Given the description of an element on the screen output the (x, y) to click on. 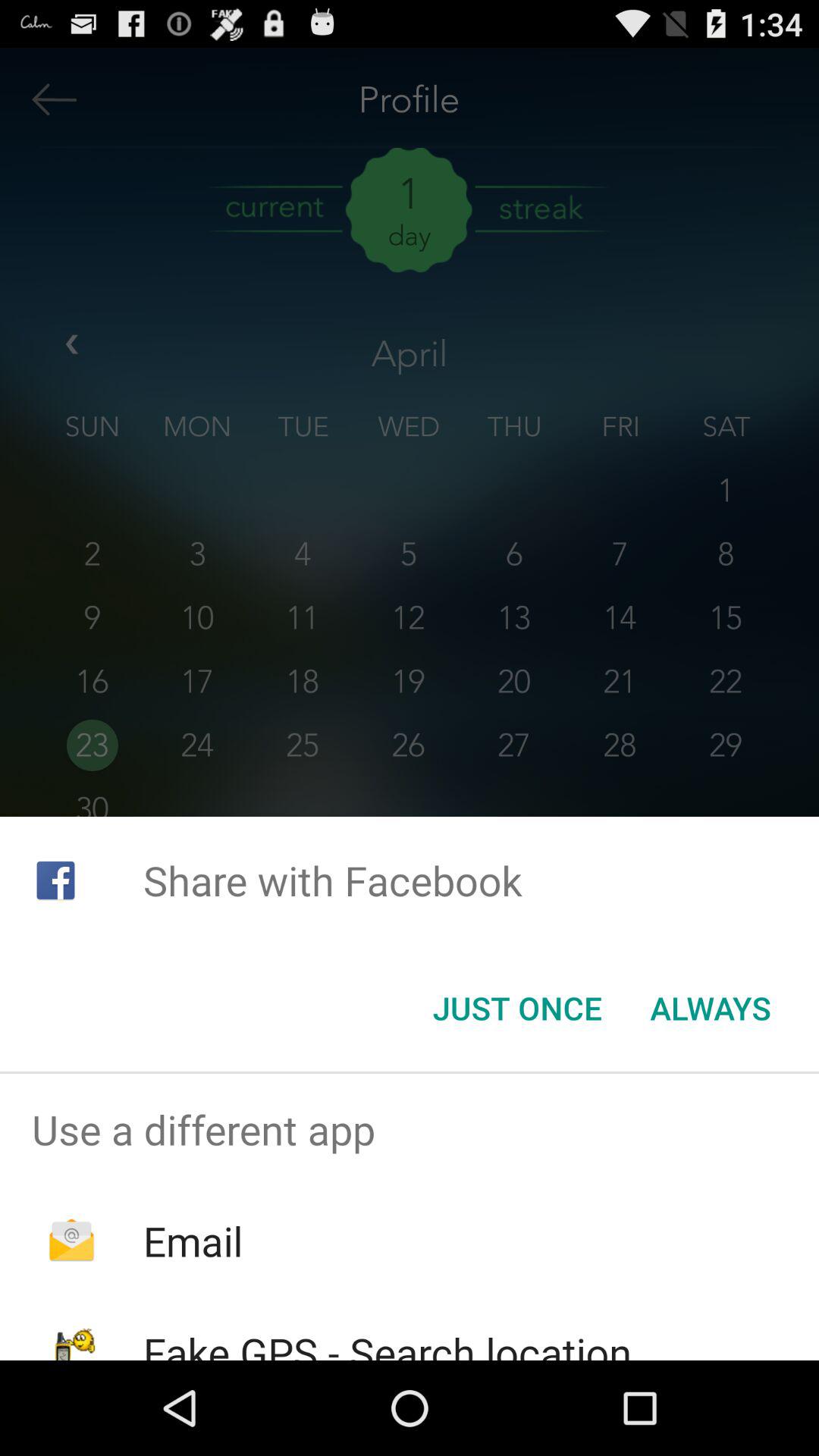
turn off icon to the right of the just once button (710, 1007)
